Given the description of an element on the screen output the (x, y) to click on. 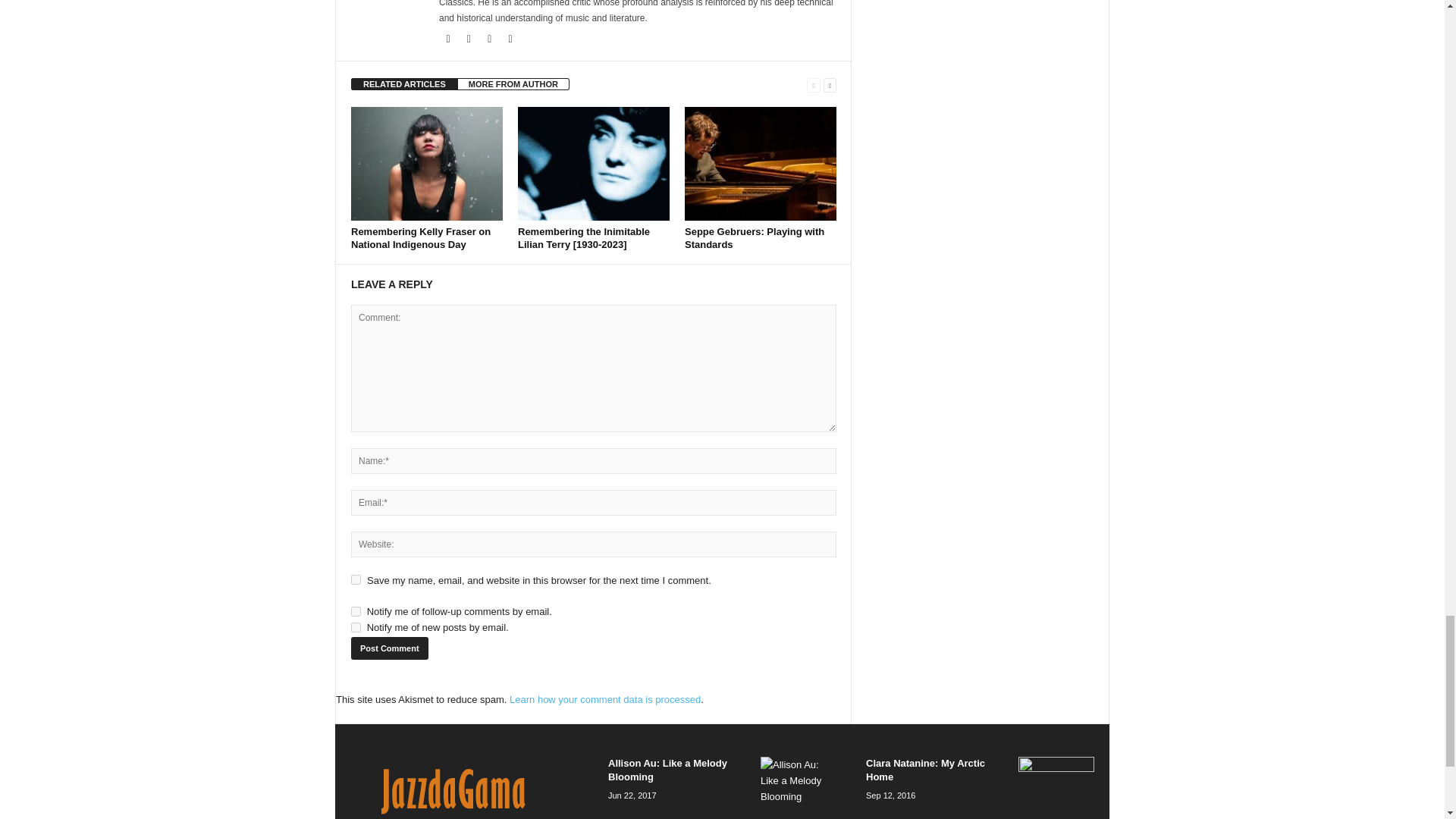
Post Comment (389, 648)
subscribe (355, 611)
subscribe (355, 627)
yes (355, 579)
